Given the description of an element on the screen output the (x, y) to click on. 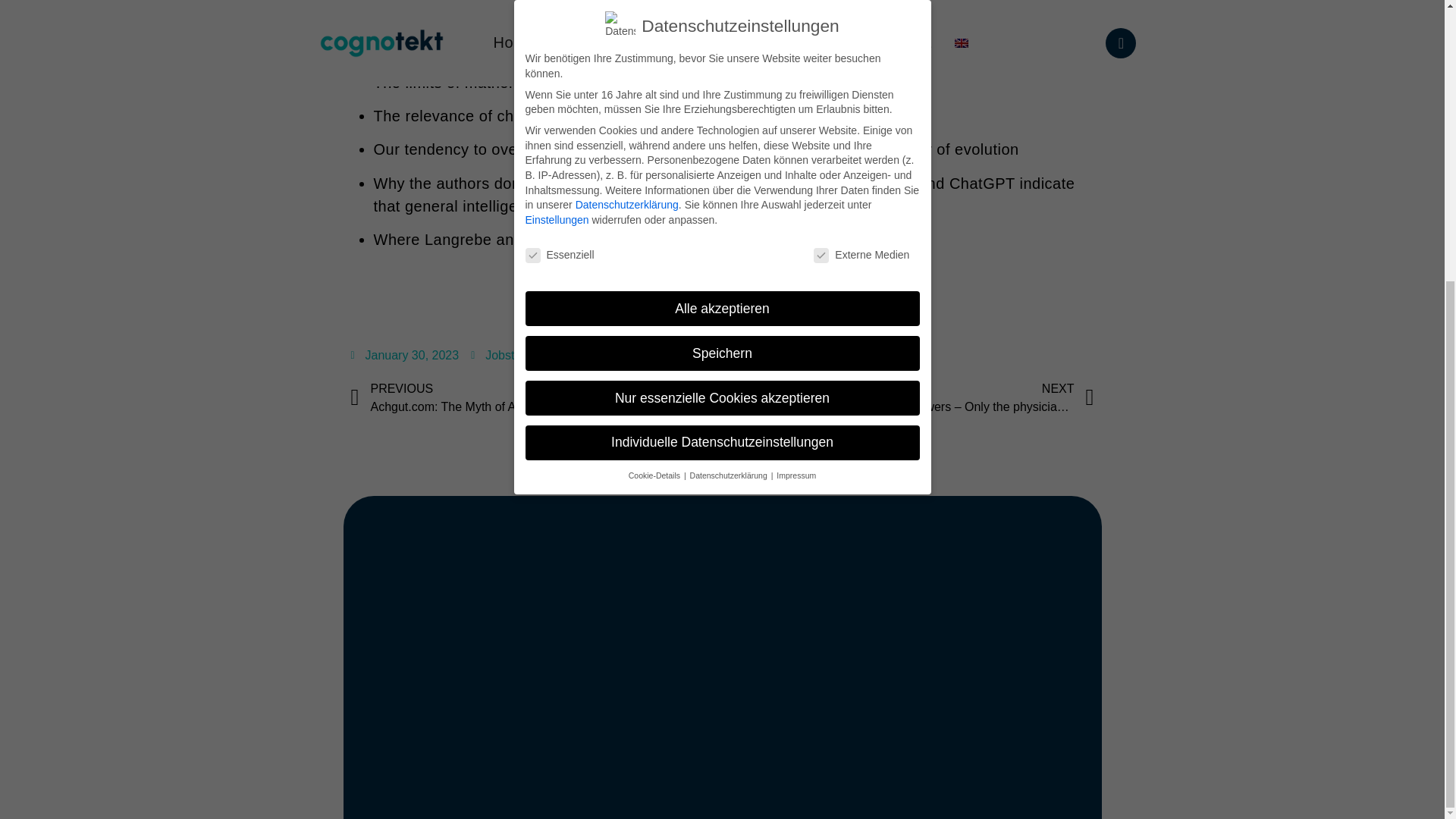
Open Cookie Preferences (32, 379)
